Given the description of an element on the screen output the (x, y) to click on. 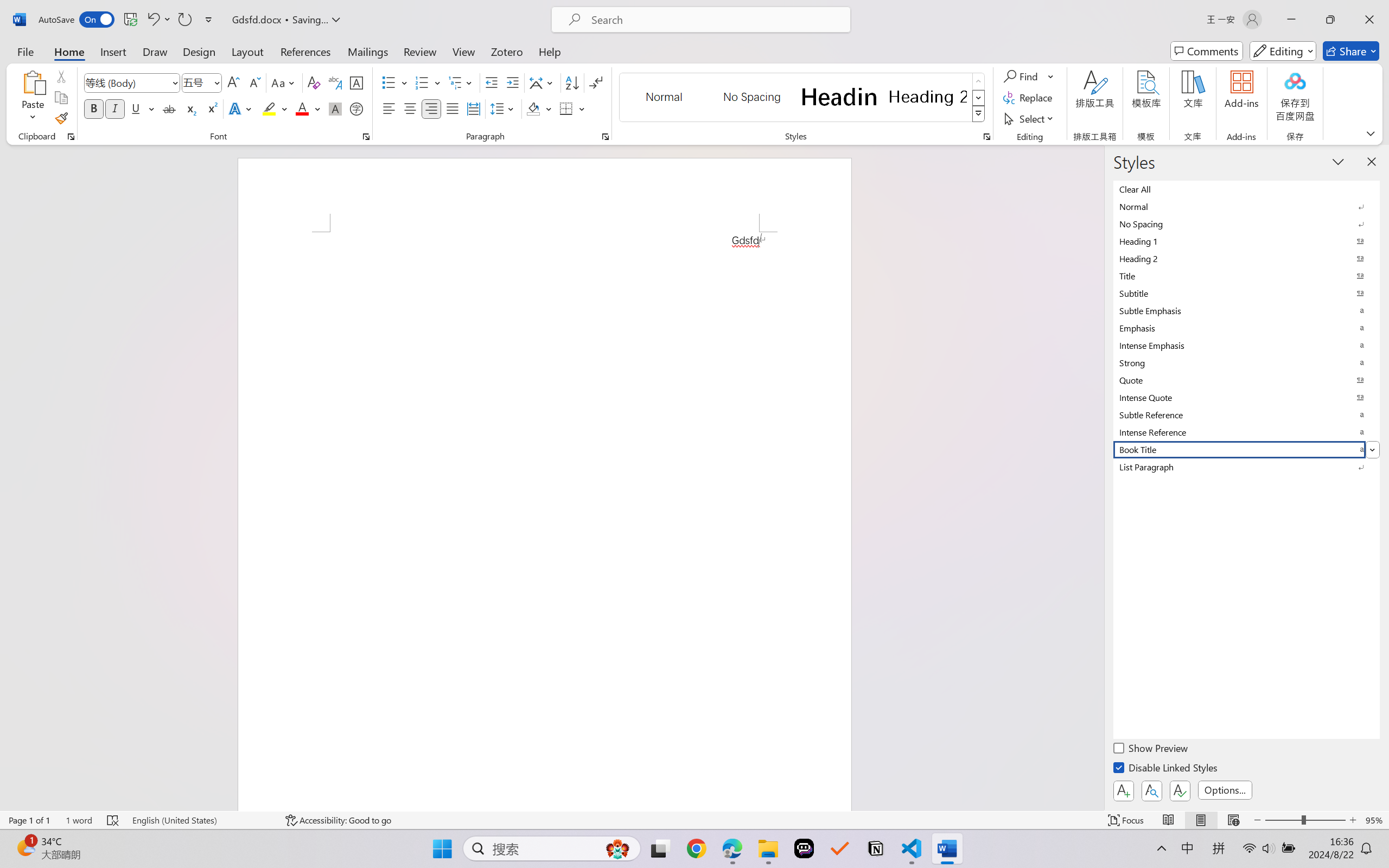
Distributed (473, 108)
Text Effects and Typography (241, 108)
Cut (60, 75)
Select (1030, 118)
